Given the description of an element on the screen output the (x, y) to click on. 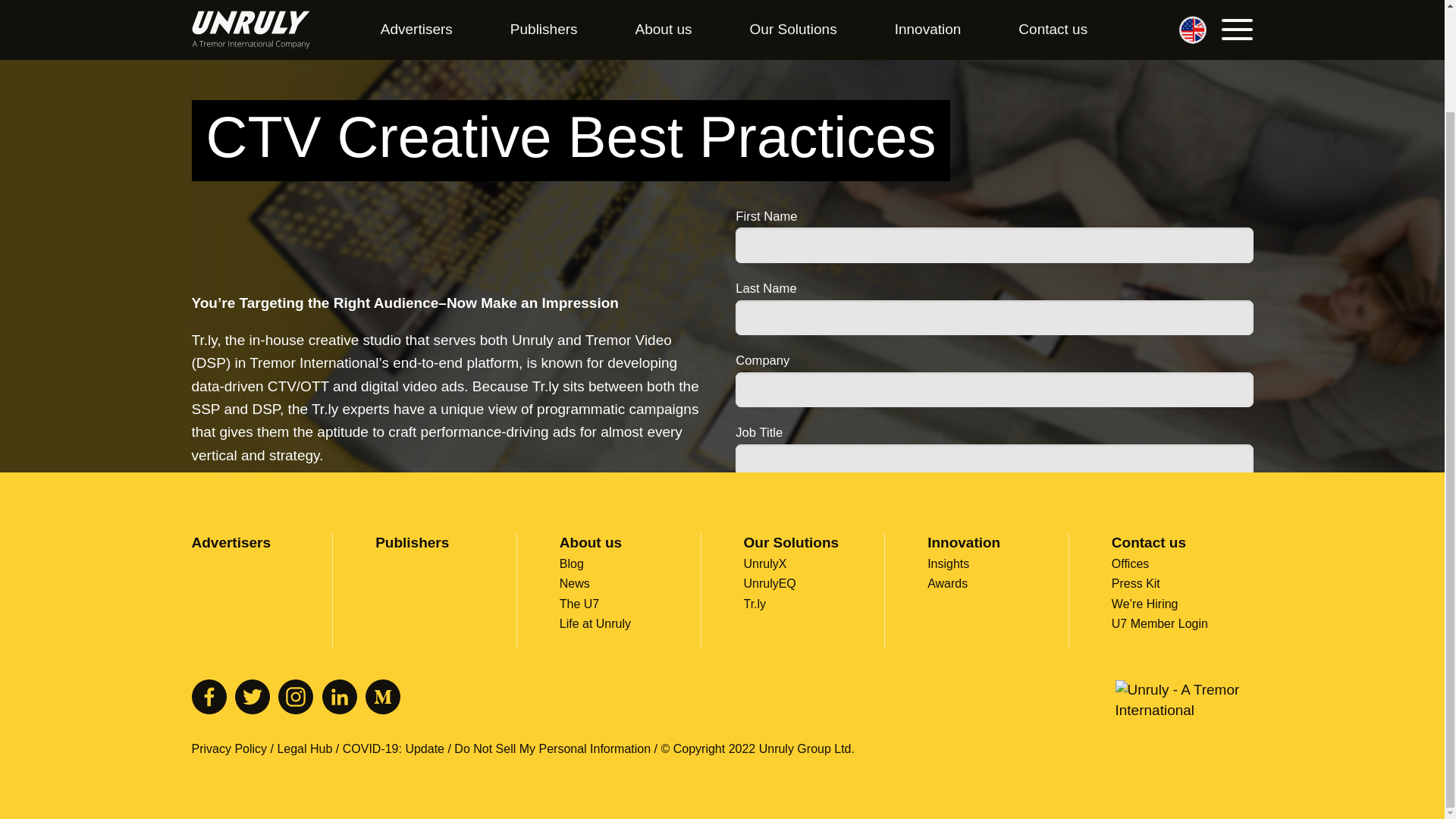
Medium (382, 696)
Advertisers (230, 542)
Blog (571, 563)
Facebook (207, 696)
The U7 (578, 603)
Twitter (251, 696)
Life at Unruly (594, 623)
Instagram (295, 696)
Our Solutions (790, 542)
LinkedIn Company (338, 696)
